Given the description of an element on the screen output the (x, y) to click on. 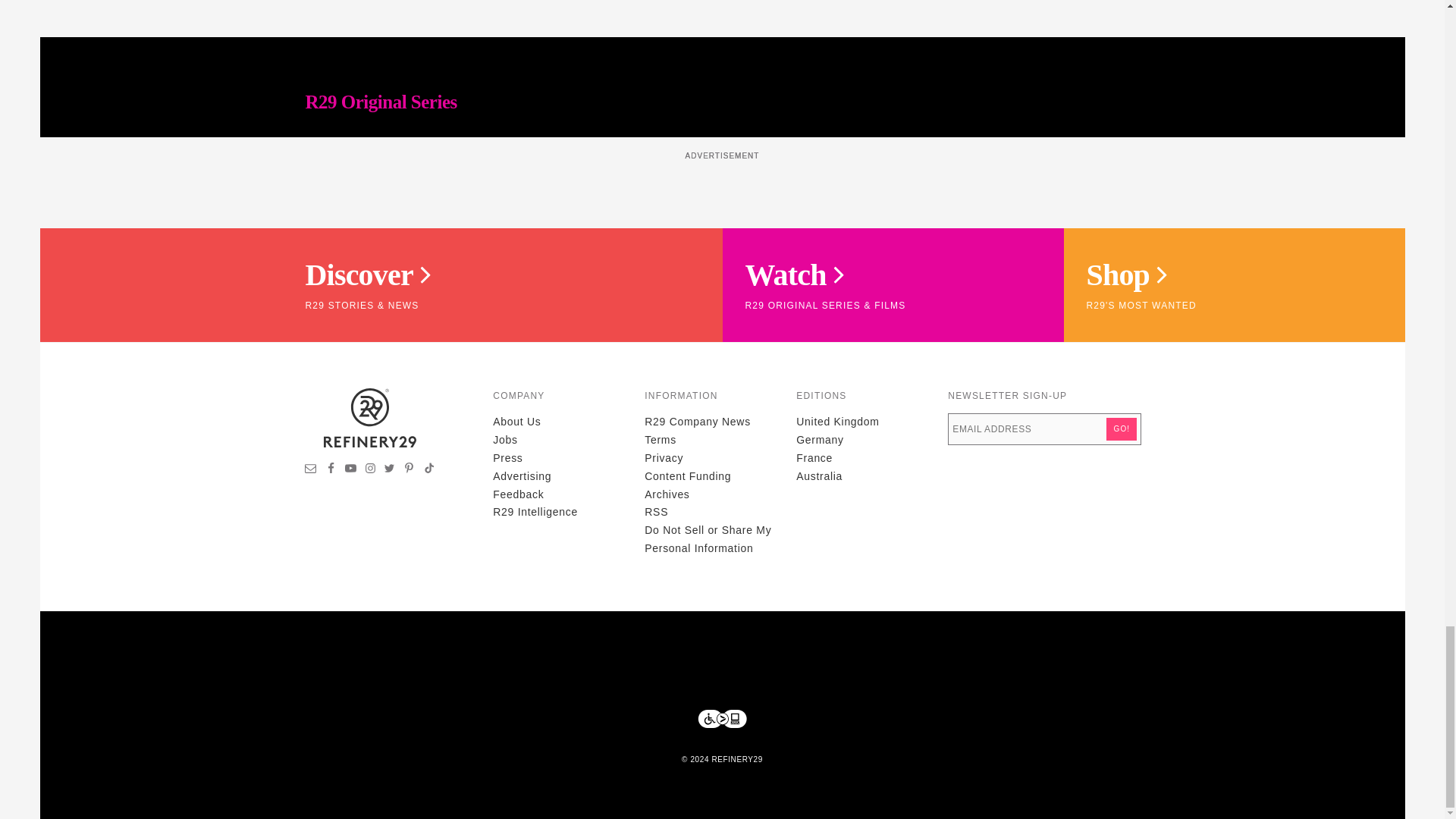
Visit Refinery29 on YouTube (350, 469)
Visit Refinery29 on TikTok (428, 469)
Sign up for newsletters (310, 469)
